Given the description of an element on the screen output the (x, y) to click on. 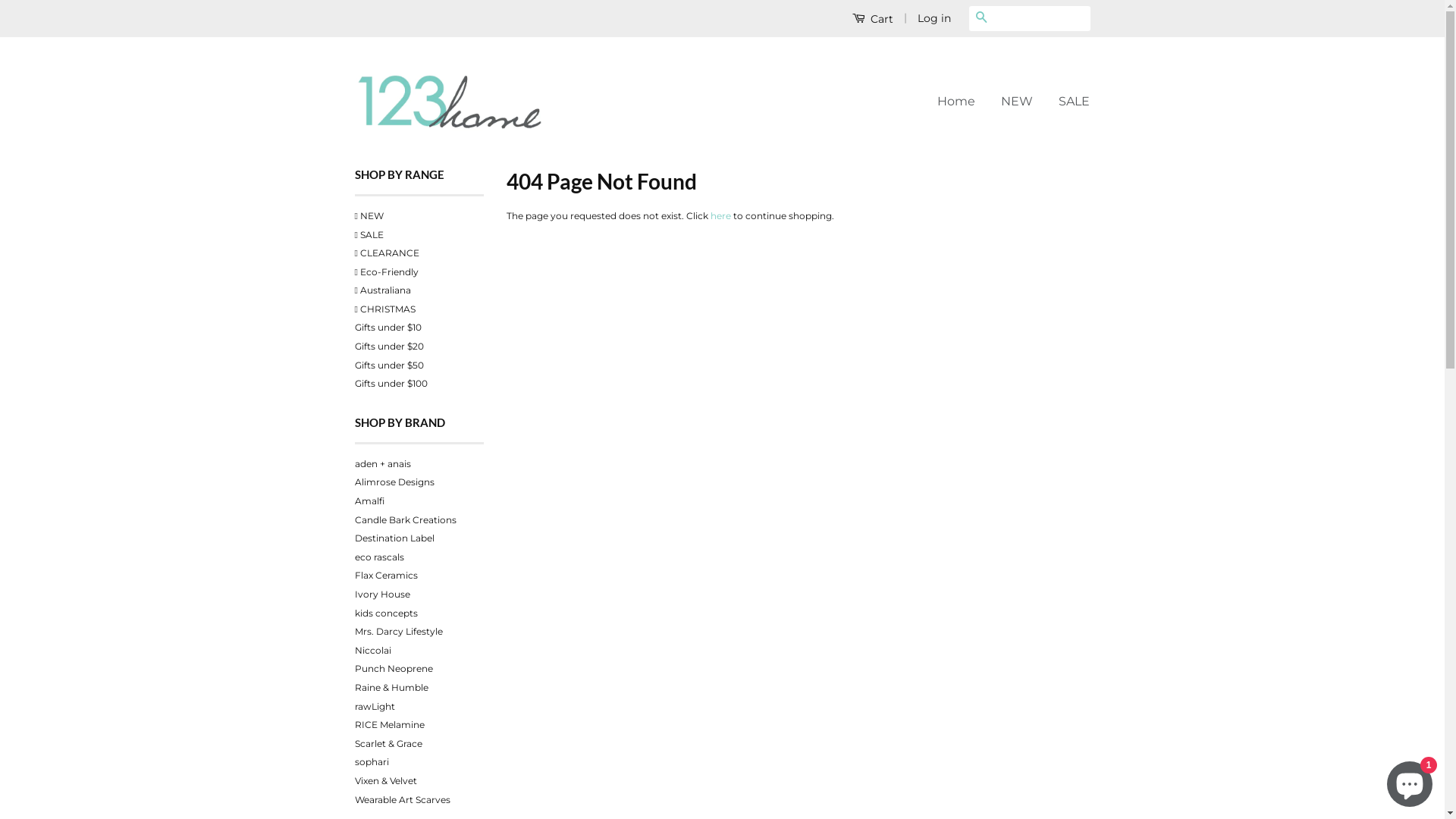
eco rascals Element type: text (379, 556)
Wearable Art Scarves Element type: text (402, 799)
Scarlet & Grace Element type: text (388, 743)
Raine & Humble Element type: text (391, 687)
Gifts under $100 Element type: text (390, 383)
sophari Element type: text (371, 761)
SALE Element type: text (1068, 101)
here Element type: text (719, 215)
Gifts under $50 Element type: text (388, 364)
Shopify online store chat Element type: hover (1409, 780)
Mrs. Darcy Lifestyle Element type: text (398, 631)
Gifts under $10 Element type: text (387, 326)
Candle Bark Creations Element type: text (405, 519)
Home Element type: text (961, 101)
Log in Element type: text (933, 18)
Cart Element type: text (872, 17)
Flax Ceramics Element type: text (385, 574)
RICE Melamine Element type: text (389, 724)
Punch Neoprene Element type: text (393, 668)
Gifts under $20 Element type: text (388, 345)
Niccolai Element type: text (372, 649)
rawLight Element type: text (374, 706)
Vixen & Velvet Element type: text (385, 780)
Destination Label Element type: text (394, 537)
Amalfi Element type: text (369, 500)
Ivory House Element type: text (382, 593)
kids concepts Element type: text (385, 612)
NEW Element type: text (1016, 101)
Alimrose Designs Element type: text (394, 481)
Search Element type: text (981, 18)
aden + anais Element type: text (382, 463)
